Given the description of an element on the screen output the (x, y) to click on. 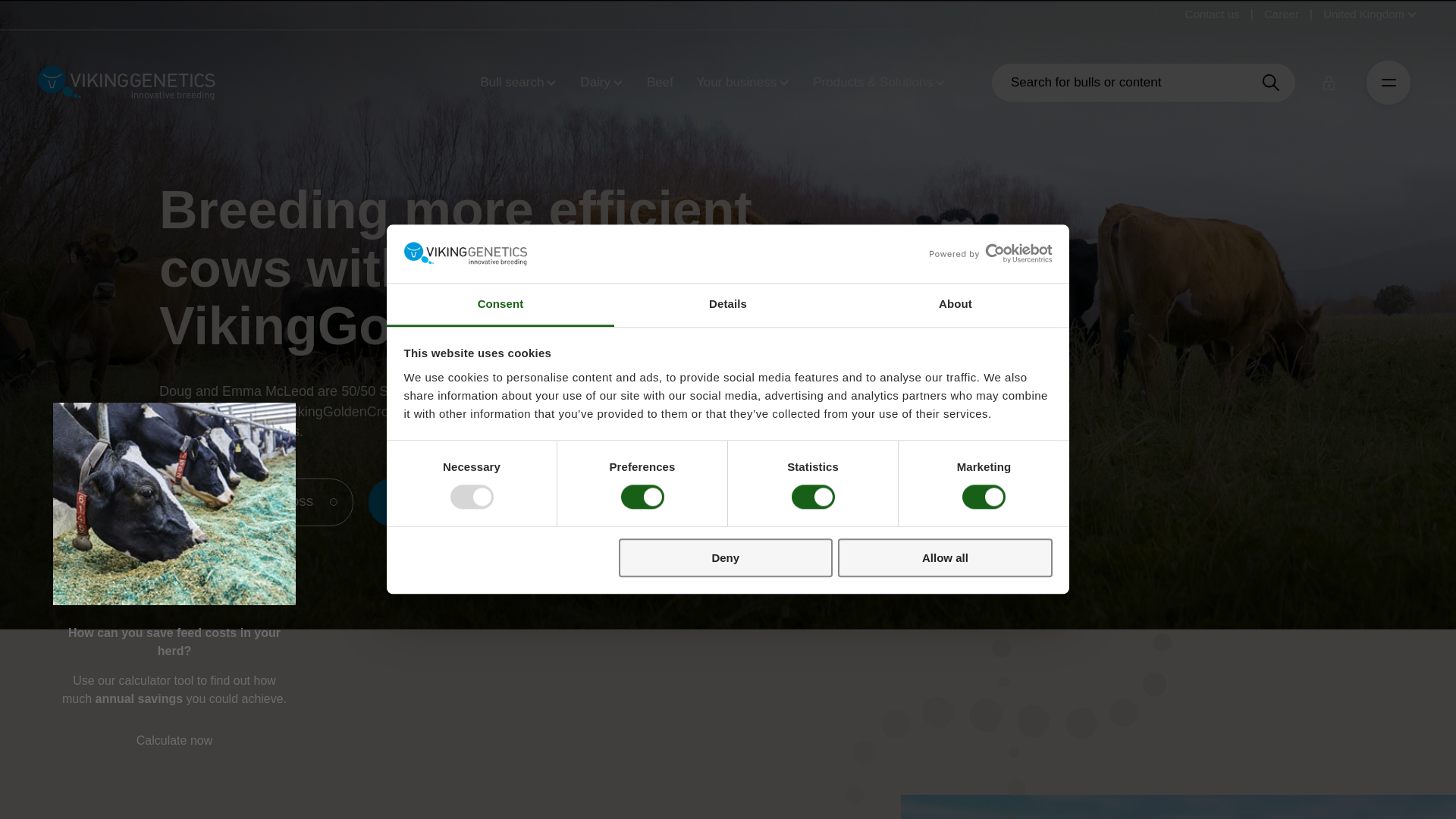
Viking Genetics - innovative breeding (126, 82)
Consent (500, 304)
Details (727, 304)
About (954, 304)
